Given the description of an element on the screen output the (x, y) to click on. 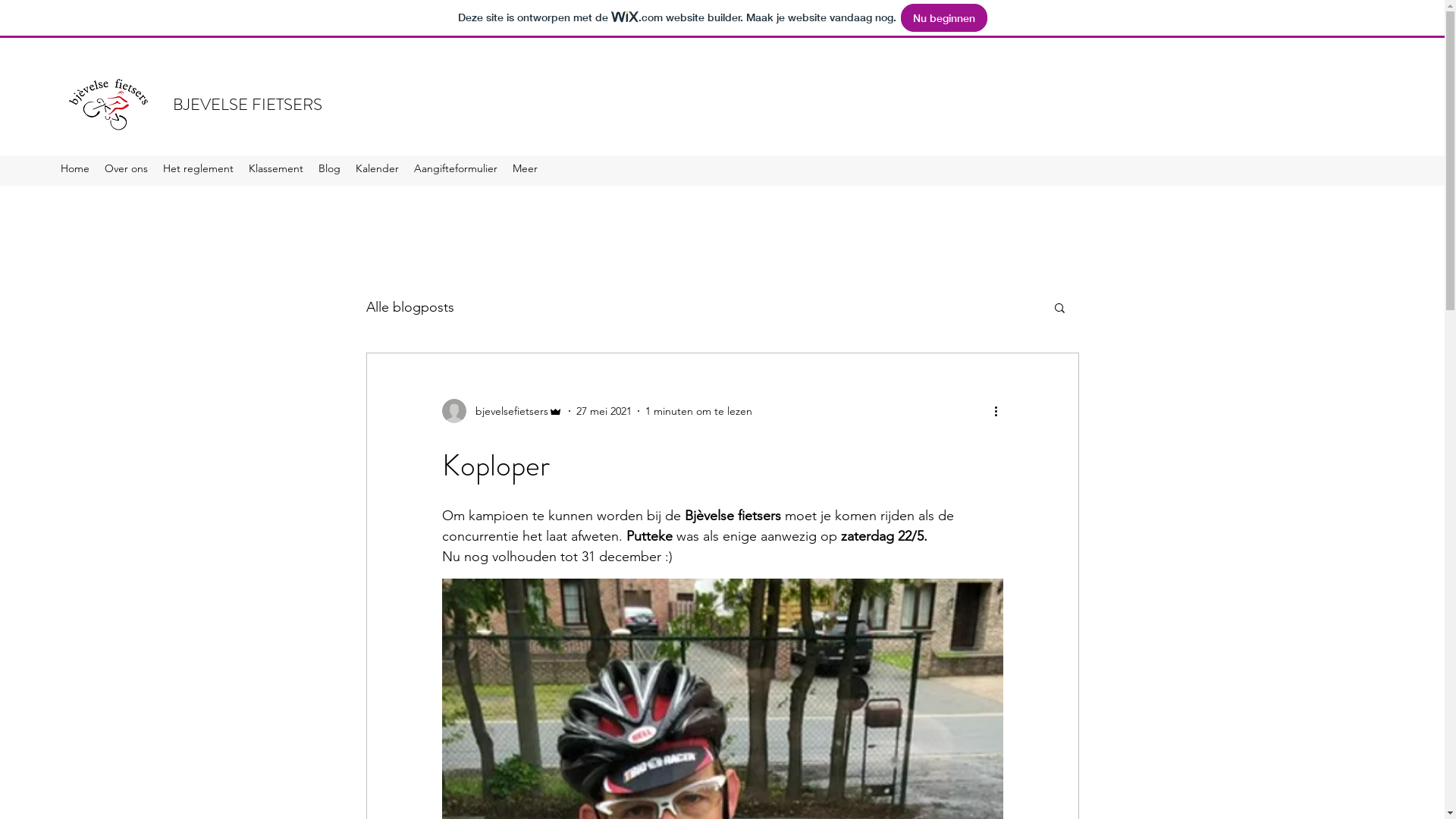
Blog Element type: text (329, 170)
Kalender Element type: text (377, 170)
Home Element type: text (75, 170)
BJEVELSE FIETSERS Element type: text (247, 104)
Aangifteformulier Element type: text (455, 170)
Alle blogposts Element type: text (409, 306)
Over ons Element type: text (126, 170)
Klassement Element type: text (275, 170)
Het reglement Element type: text (198, 170)
